Given the description of an element on the screen output the (x, y) to click on. 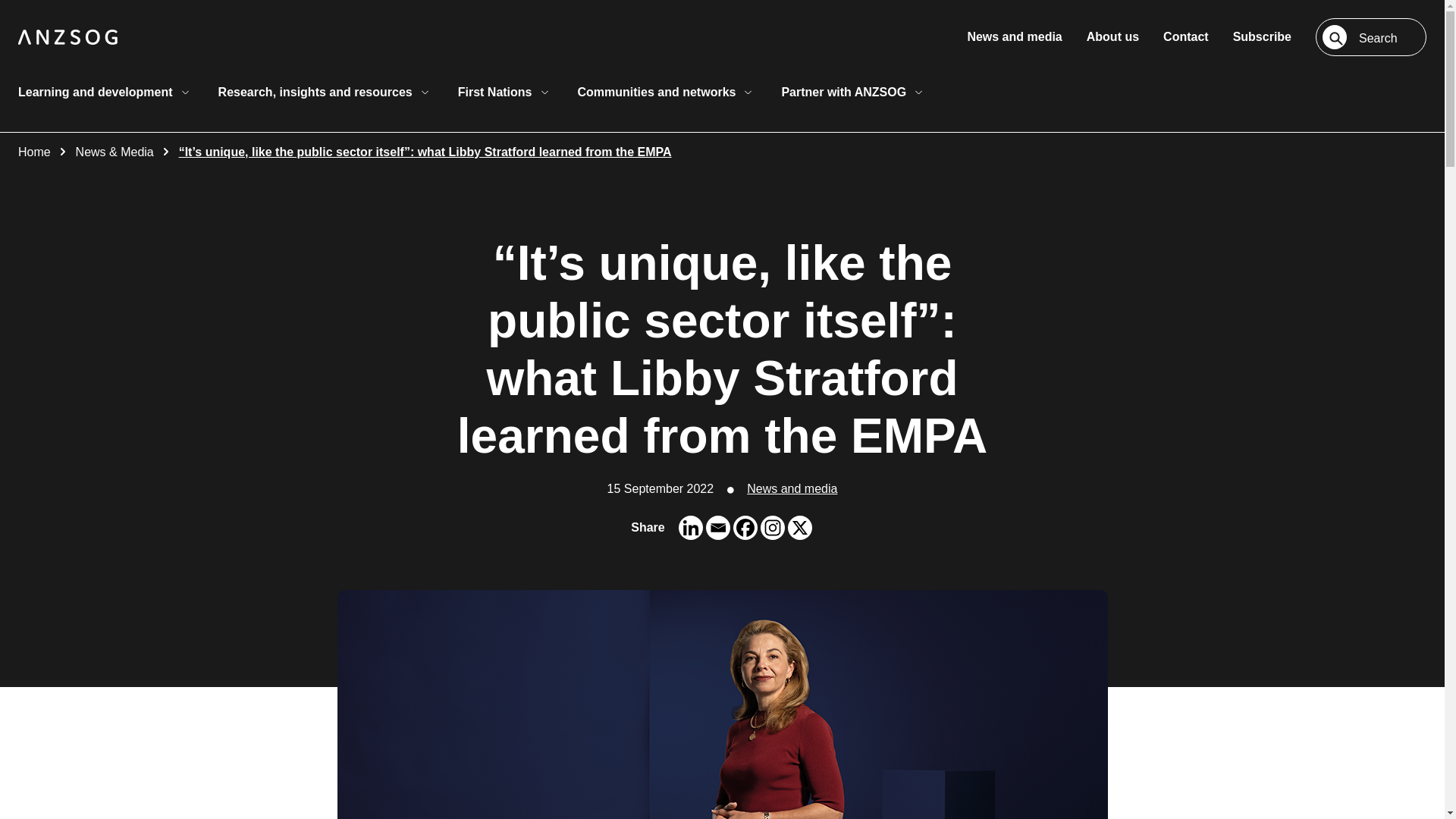
Instagram (772, 527)
Email (718, 527)
Linkedin (690, 527)
First Nations (505, 91)
Facebook (745, 527)
Learning and development (105, 91)
Communities and networks (667, 91)
Subscribe (1262, 36)
Contact (1185, 36)
X (799, 527)
News and media (1013, 36)
Partner with ANZSOG (853, 91)
About us (1112, 36)
Research, insights and resources (325, 91)
